Given the description of an element on the screen output the (x, y) to click on. 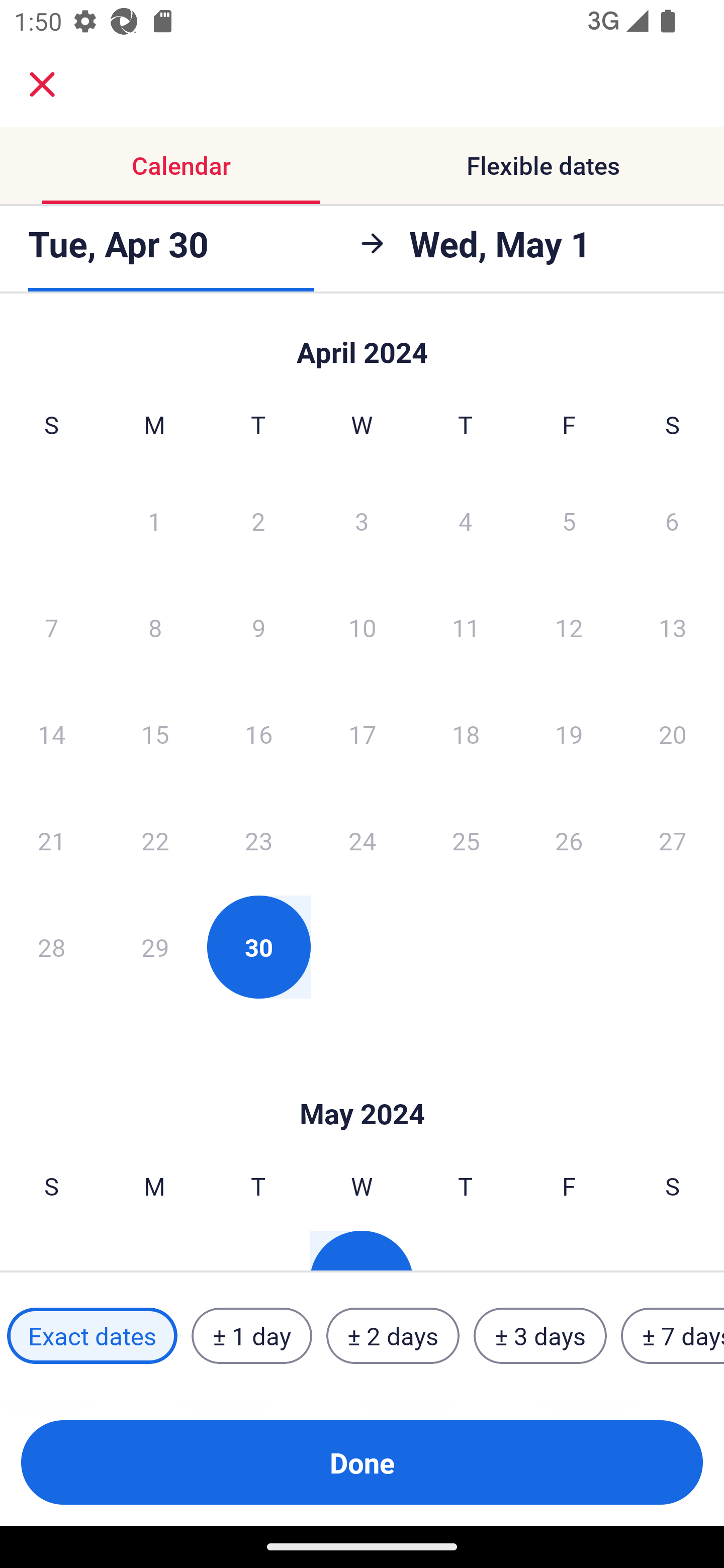
close. (42, 84)
Flexible dates (542, 164)
Skip to Done (362, 343)
1 Monday, April 1, 2024 (154, 520)
2 Tuesday, April 2, 2024 (257, 520)
3 Wednesday, April 3, 2024 (361, 520)
4 Thursday, April 4, 2024 (465, 520)
5 Friday, April 5, 2024 (568, 520)
6 Saturday, April 6, 2024 (672, 520)
7 Sunday, April 7, 2024 (51, 626)
8 Monday, April 8, 2024 (155, 626)
9 Tuesday, April 9, 2024 (258, 626)
10 Wednesday, April 10, 2024 (362, 626)
11 Thursday, April 11, 2024 (465, 626)
12 Friday, April 12, 2024 (569, 626)
13 Saturday, April 13, 2024 (672, 626)
14 Sunday, April 14, 2024 (51, 733)
15 Monday, April 15, 2024 (155, 733)
16 Tuesday, April 16, 2024 (258, 733)
17 Wednesday, April 17, 2024 (362, 733)
18 Thursday, April 18, 2024 (465, 733)
19 Friday, April 19, 2024 (569, 733)
20 Saturday, April 20, 2024 (672, 733)
21 Sunday, April 21, 2024 (51, 840)
22 Monday, April 22, 2024 (155, 840)
23 Tuesday, April 23, 2024 (258, 840)
24 Wednesday, April 24, 2024 (362, 840)
25 Thursday, April 25, 2024 (465, 840)
26 Friday, April 26, 2024 (569, 840)
27 Saturday, April 27, 2024 (672, 840)
28 Sunday, April 28, 2024 (51, 946)
29 Monday, April 29, 2024 (155, 946)
Skip to Done (362, 1083)
Exact dates (92, 1335)
± 1 day (251, 1335)
± 2 days (392, 1335)
± 3 days (539, 1335)
± 7 days (672, 1335)
Done (361, 1462)
